Given the description of an element on the screen output the (x, y) to click on. 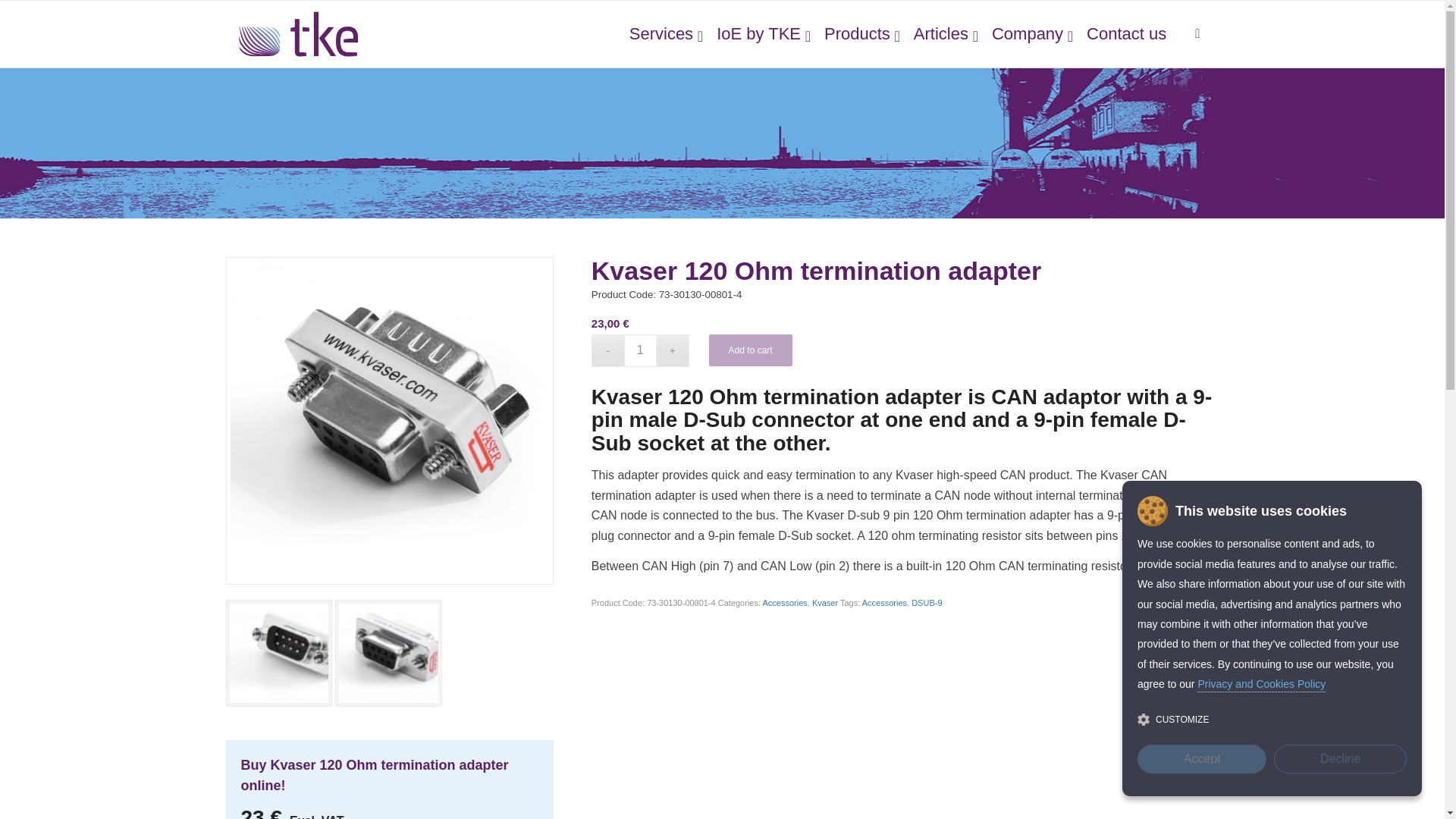
1 (640, 349)
Articles (938, 33)
Products (854, 33)
- (607, 349)
Add to cart (750, 349)
Accessories (783, 602)
IoE by TKE (756, 33)
120 Ohm termination (389, 420)
Contact us (1124, 33)
Company (1025, 33)
